Given the description of an element on the screen output the (x, y) to click on. 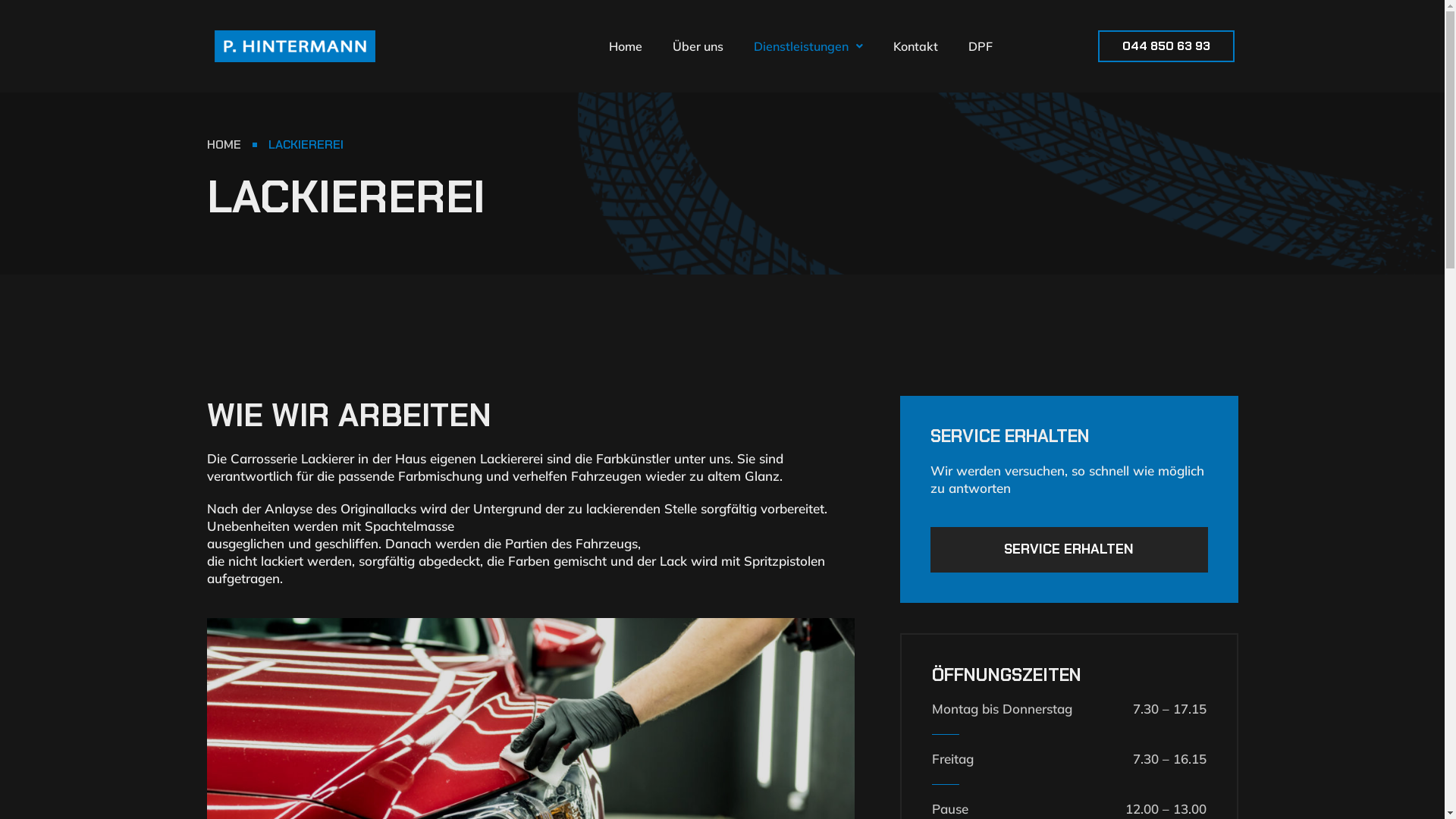
HOME Element type: text (223, 144)
Home Element type: text (625, 45)
Dienstleistungen Element type: text (808, 45)
Kontakt Element type: text (915, 45)
DPF Element type: text (980, 45)
044 850 63 93 Element type: text (1166, 46)
SERVICE ERHALTEN Element type: text (1068, 549)
LACKIEREREI Element type: text (305, 144)
